Given the description of an element on the screen output the (x, y) to click on. 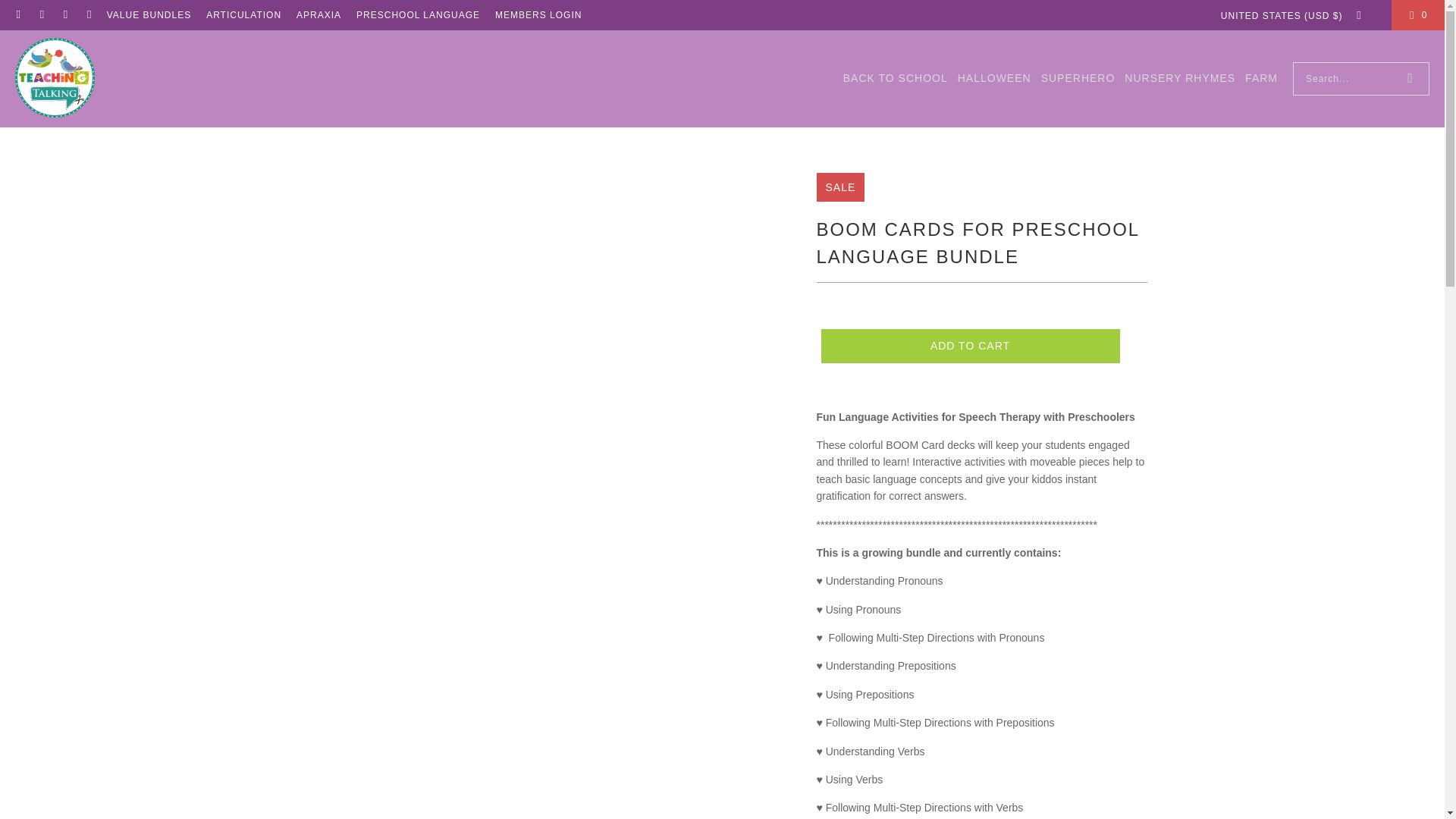
Teaching Talking on Instagram (64, 14)
Email Teaching Talking (17, 14)
Teaching Talking (54, 78)
Teaching Talking on Facebook (41, 14)
Teaching Talking on Pinterest (87, 14)
